Given the description of an element on the screen output the (x, y) to click on. 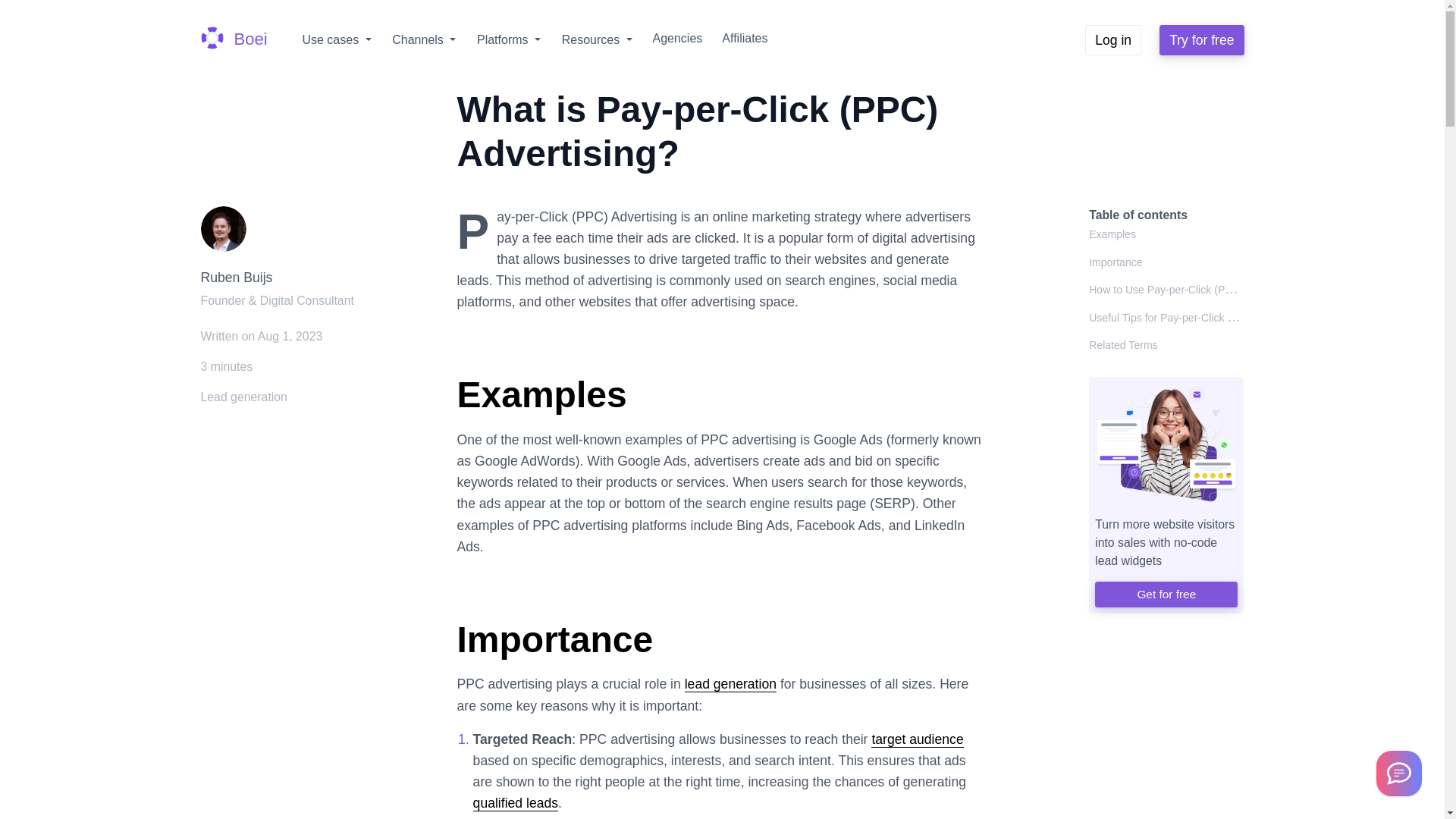
Boei (233, 39)
Resources (597, 40)
Use cases (336, 40)
Platforms (508, 40)
Agencies (676, 38)
Channels (423, 40)
